Given the description of an element on the screen output the (x, y) to click on. 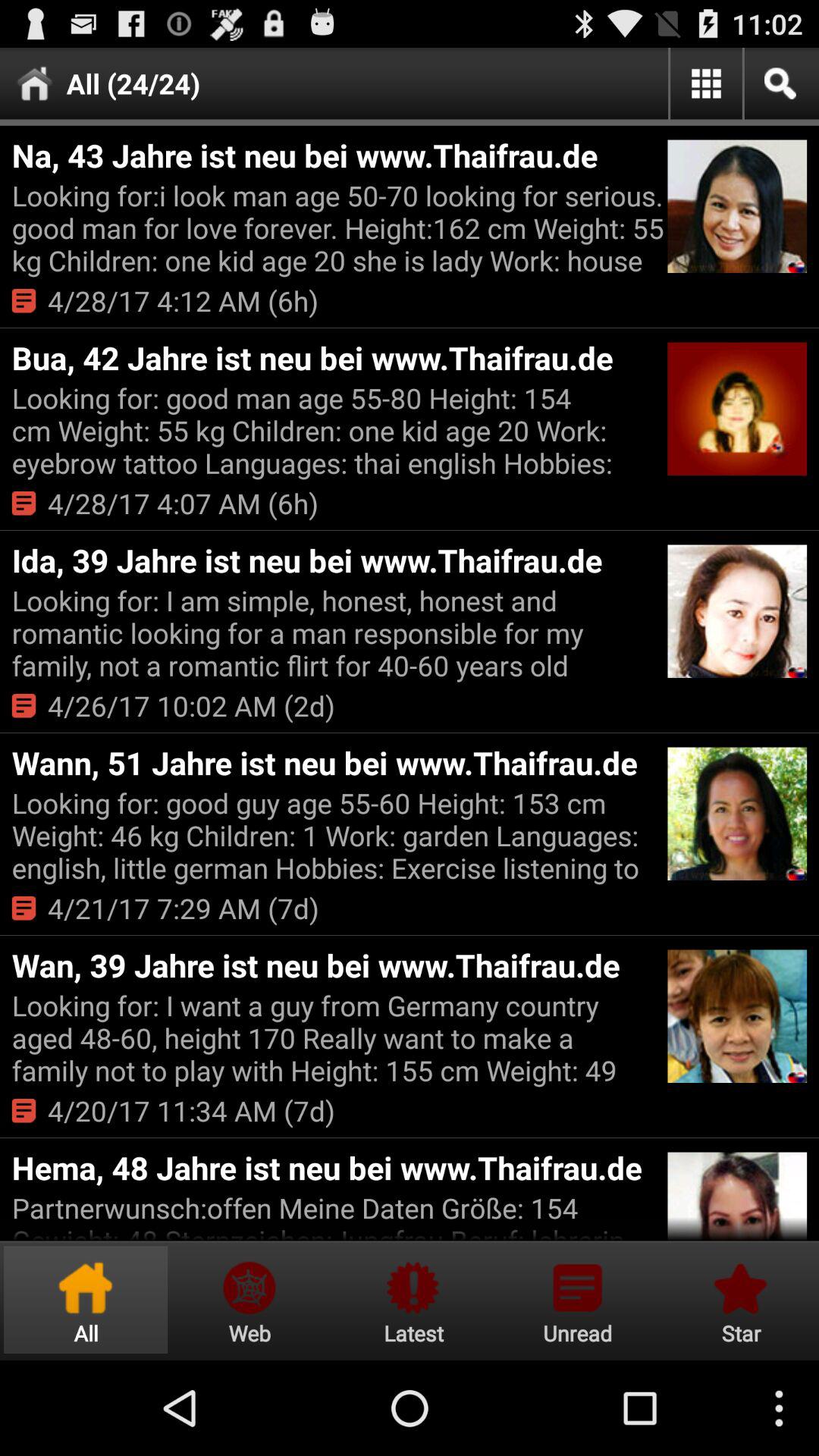
select the app above the looking for good (337, 762)
